Given the description of an element on the screen output the (x, y) to click on. 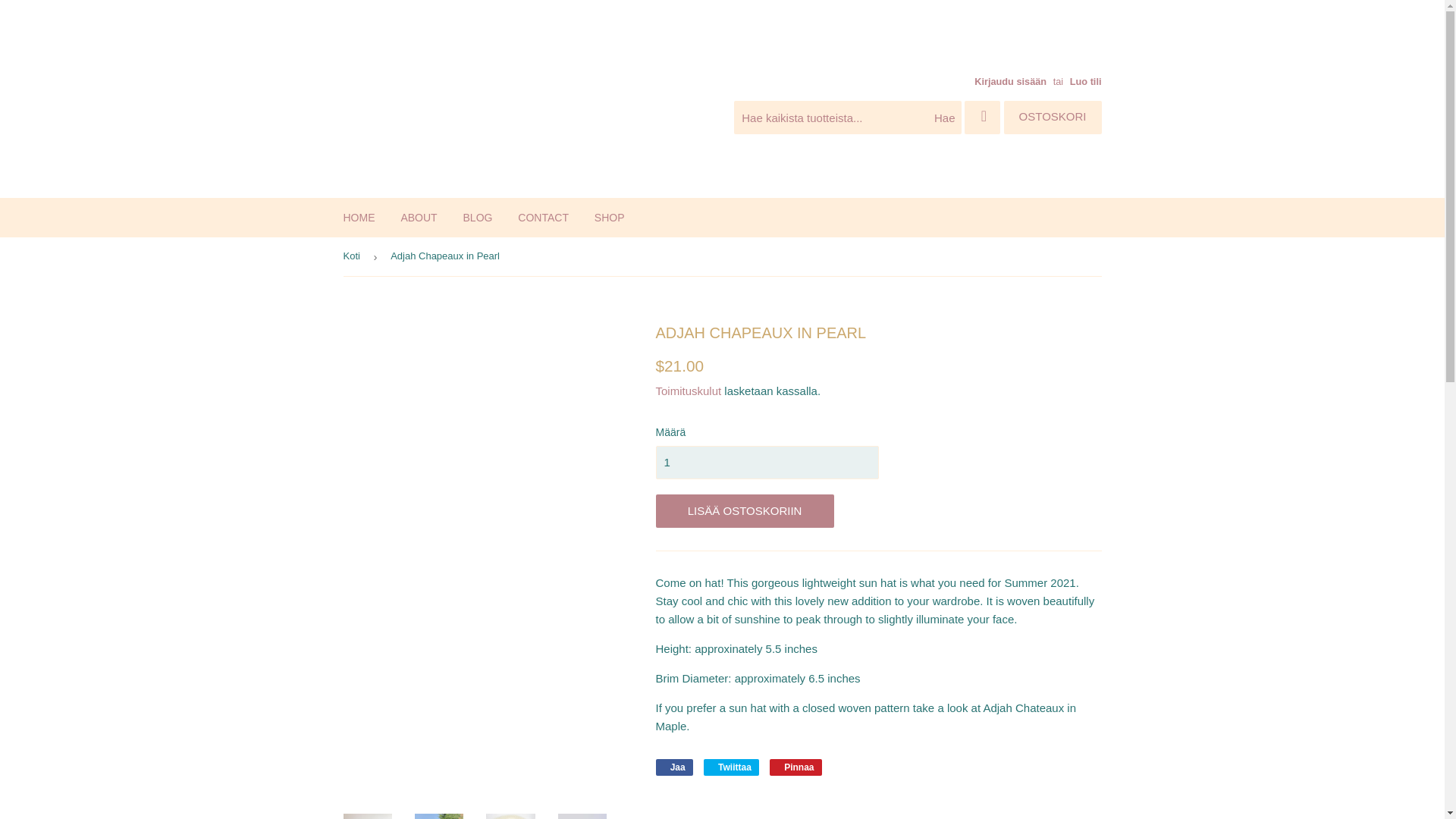
1 (766, 462)
Luo tili (1086, 81)
Jaa Facebookissa (674, 767)
Hae (943, 118)
OSTOSKORI (1053, 117)
